Given the description of an element on the screen output the (x, y) to click on. 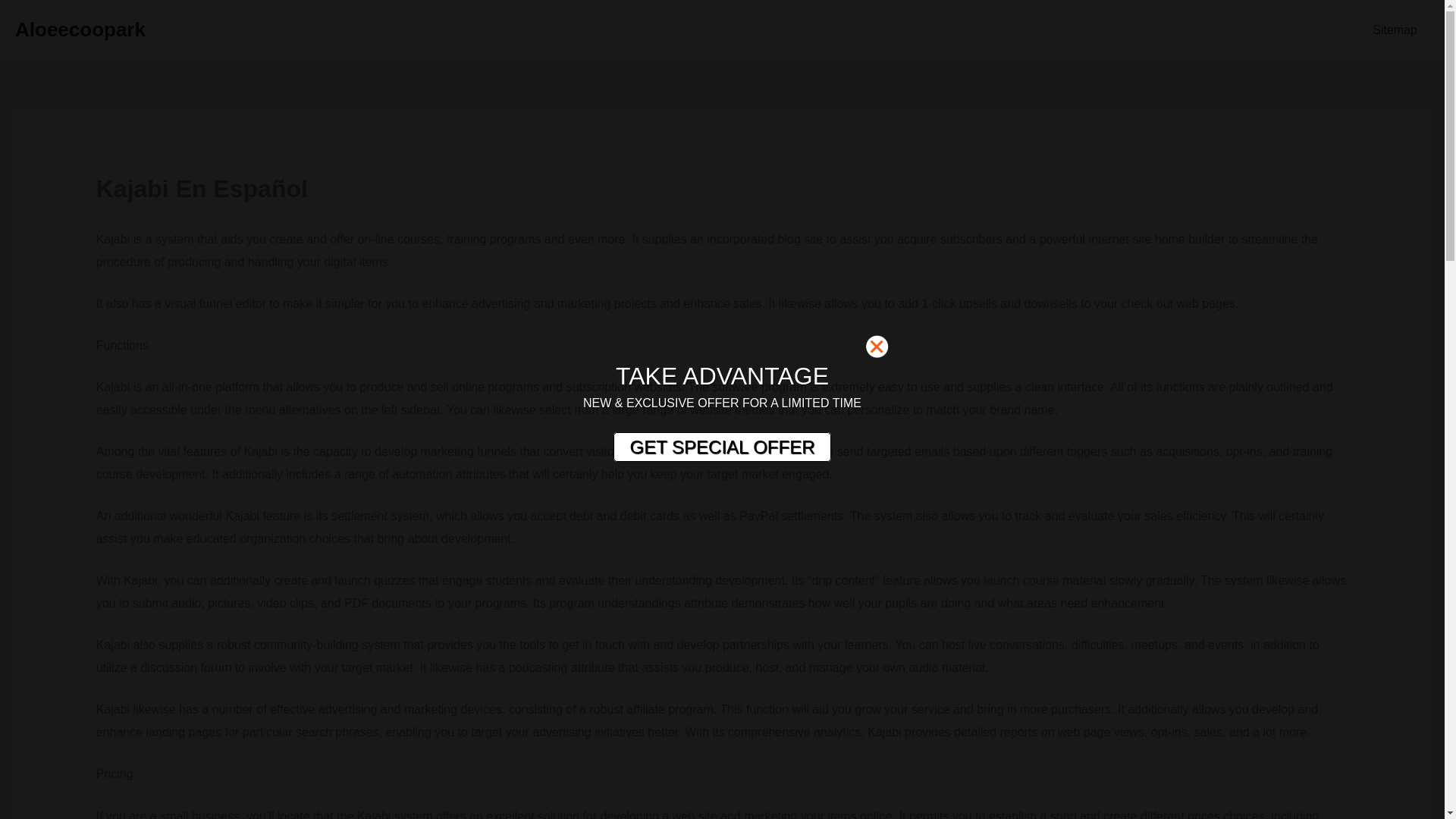
Aloeecoopark (79, 29)
GET SPECIAL OFFER (720, 446)
Sitemap (1394, 30)
